Given the description of an element on the screen output the (x, y) to click on. 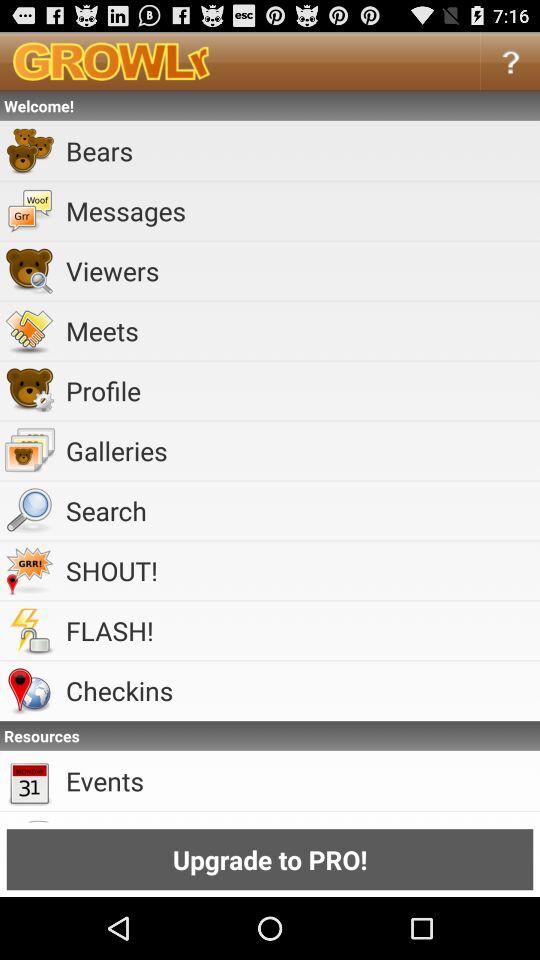
click for help (510, 60)
